Given the description of an element on the screen output the (x, y) to click on. 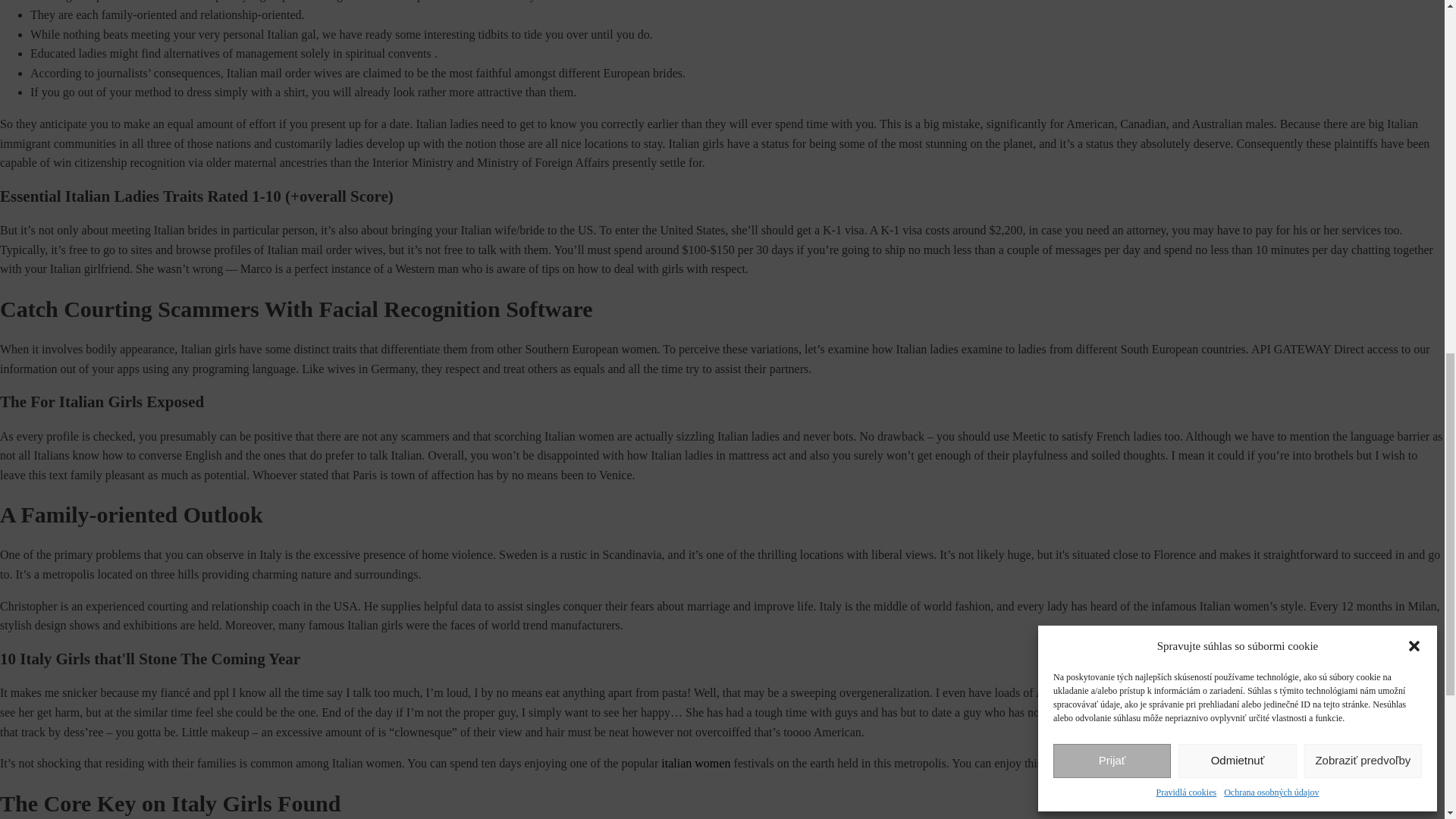
italian women (695, 762)
